Given the description of an element on the screen output the (x, y) to click on. 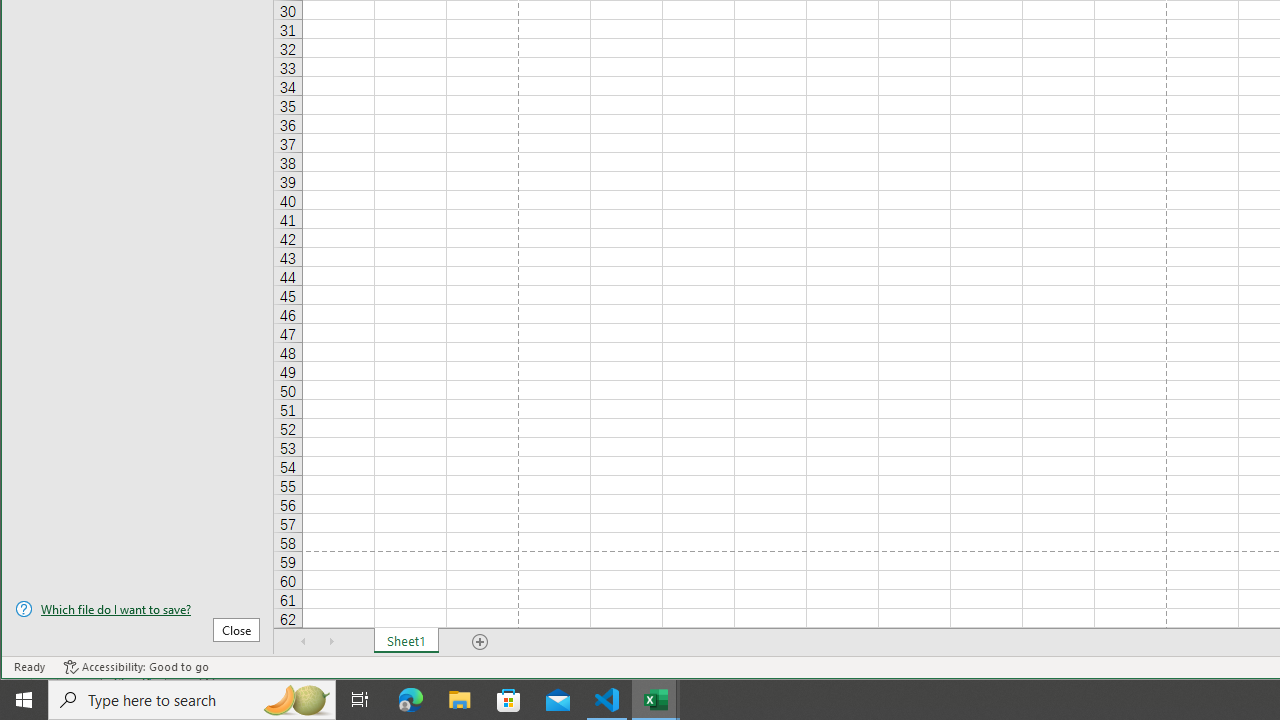
Microsoft Store (509, 699)
